Given the description of an element on the screen output the (x, y) to click on. 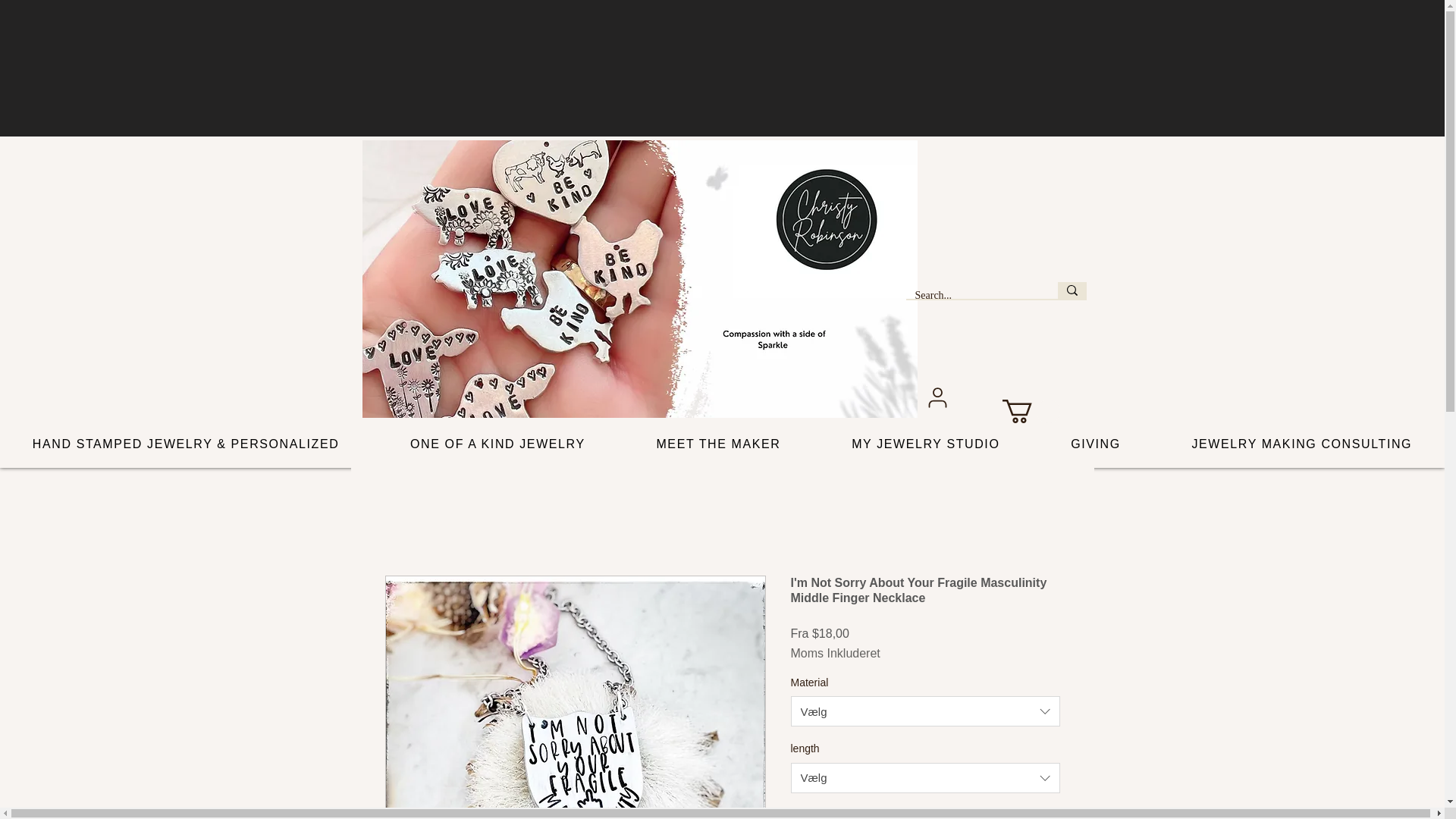
MY JEWELRY STUDIO (925, 444)
JEWELRY MAKING CONSULTING (1301, 444)
ONE OF A KIND JEWELRY (497, 444)
GIVING (1095, 444)
MEET THE MAKER (718, 444)
